Given the description of an element on the screen output the (x, y) to click on. 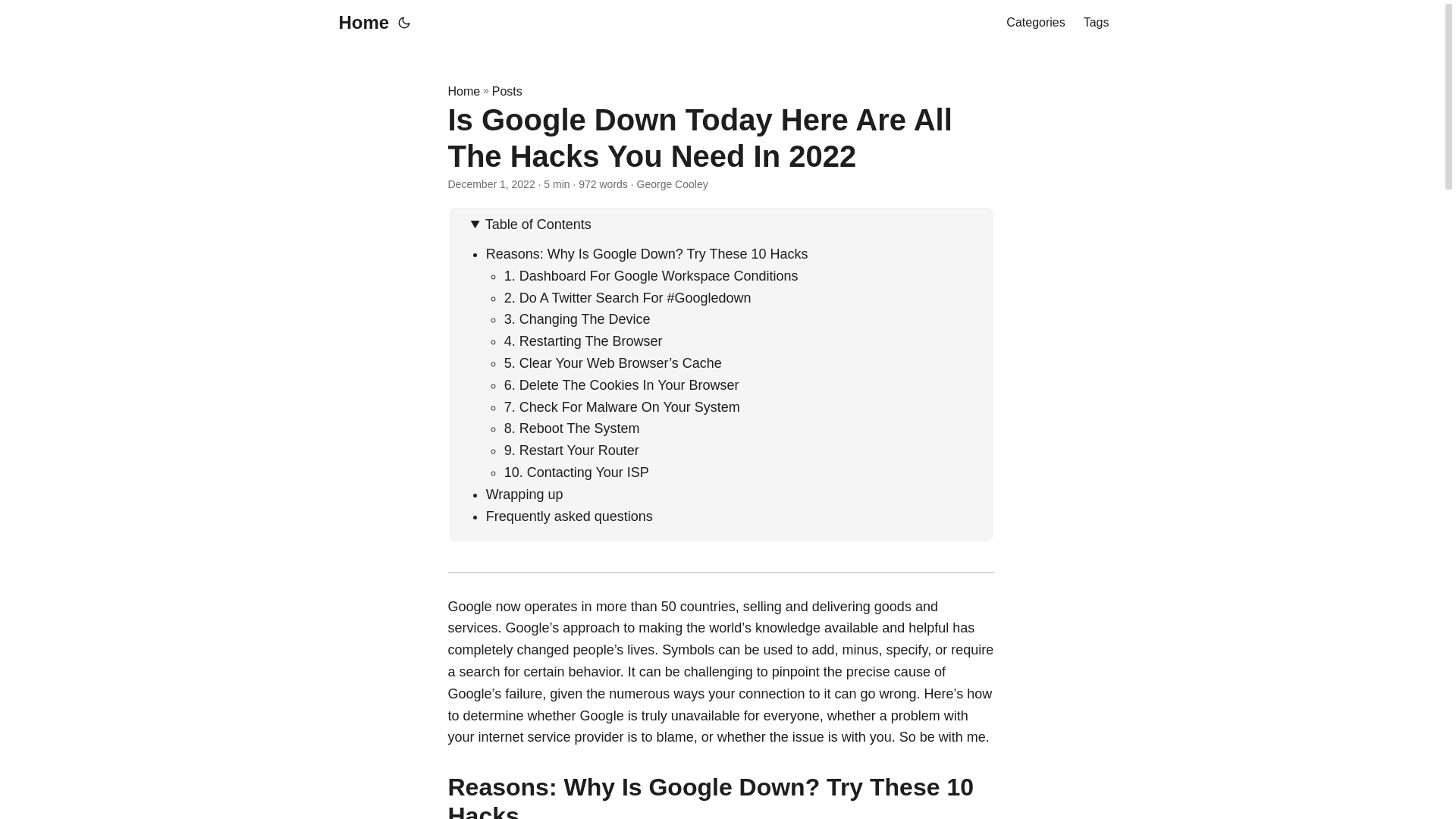
Reasons: Why Is Google Down? Try These 10 Hacks (647, 253)
3. Changing The Device (576, 319)
Home (359, 22)
7. Check For Malware On Your System (621, 406)
6. Delete The Cookies In Your Browser (621, 385)
Home (463, 91)
Wrapping up (524, 494)
Categories (1035, 22)
10. Contacting Your ISP  (577, 472)
Frequently asked questions (569, 516)
